Given the description of an element on the screen output the (x, y) to click on. 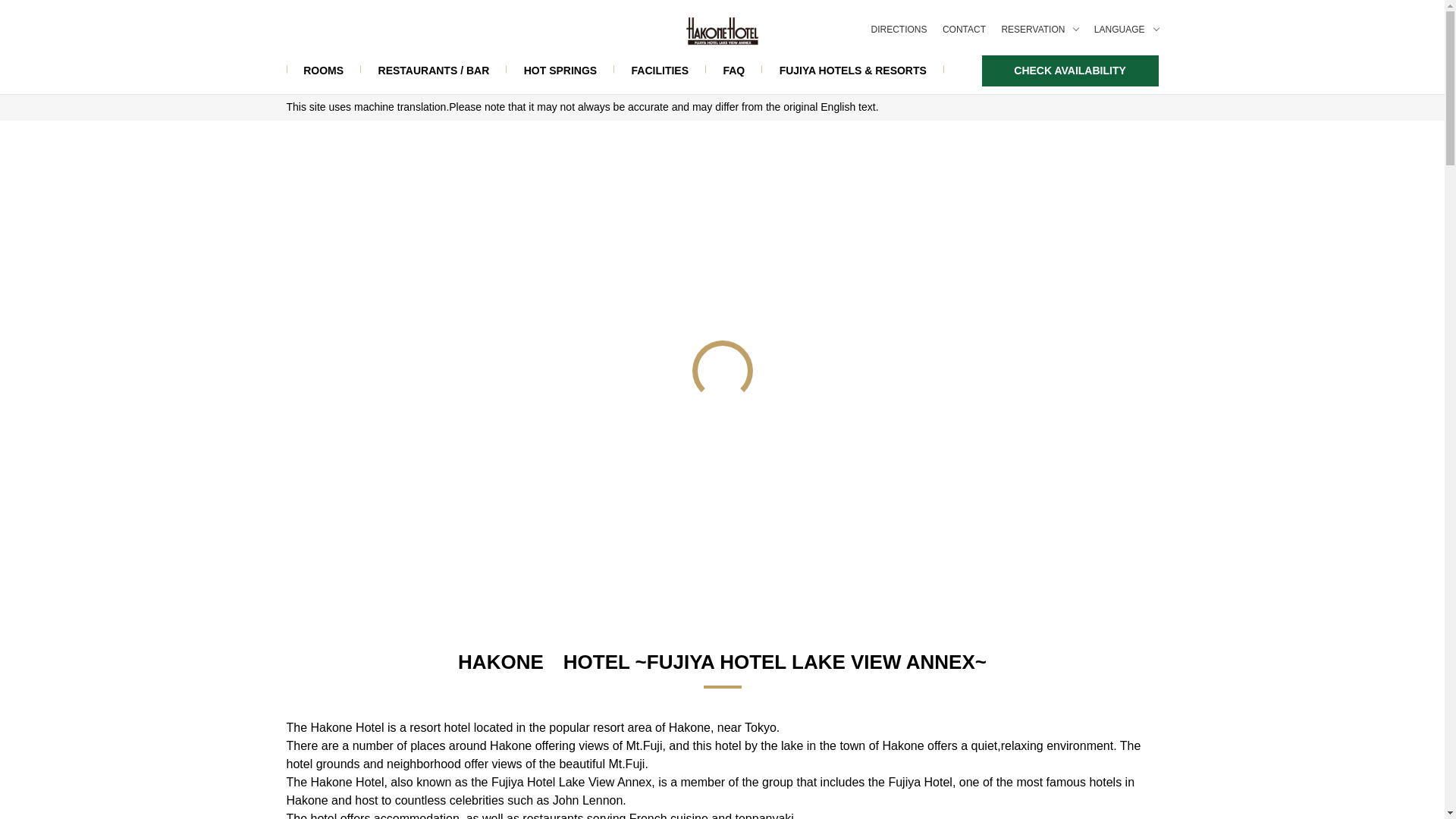
CHECK AVAILABILITY (1069, 70)
ROOMS (323, 70)
CONTACT (963, 29)
HOT SPRINGS (560, 70)
FACILITIES (660, 70)
FAQ (733, 70)
DIRECTIONS (898, 29)
